Given the description of an element on the screen output the (x, y) to click on. 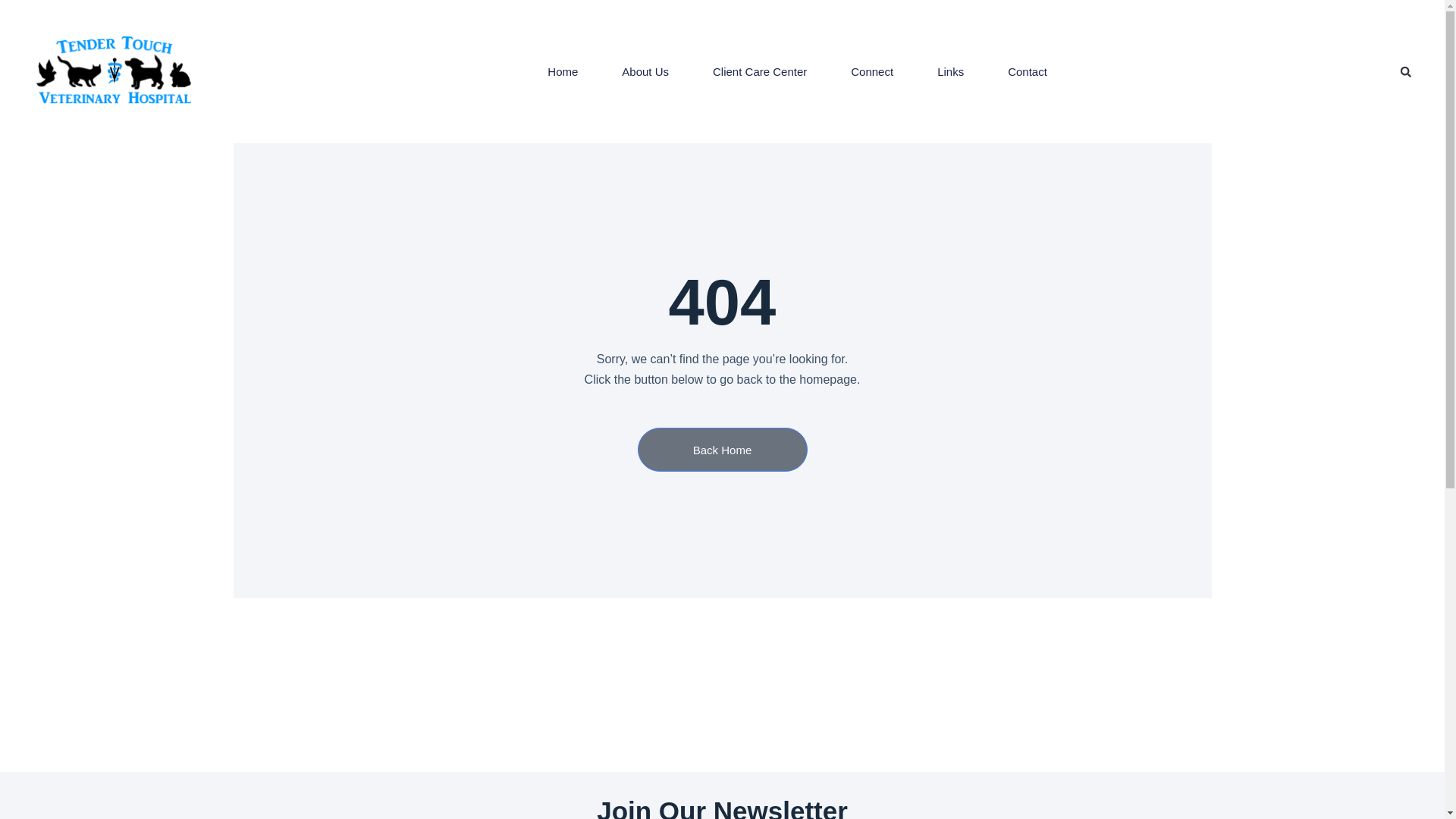
Links (950, 72)
About Us (644, 72)
Skip to content (15, 7)
Home (562, 72)
Contact (1026, 72)
Client Care Center (759, 72)
Connect (871, 72)
